Given the description of an element on the screen output the (x, y) to click on. 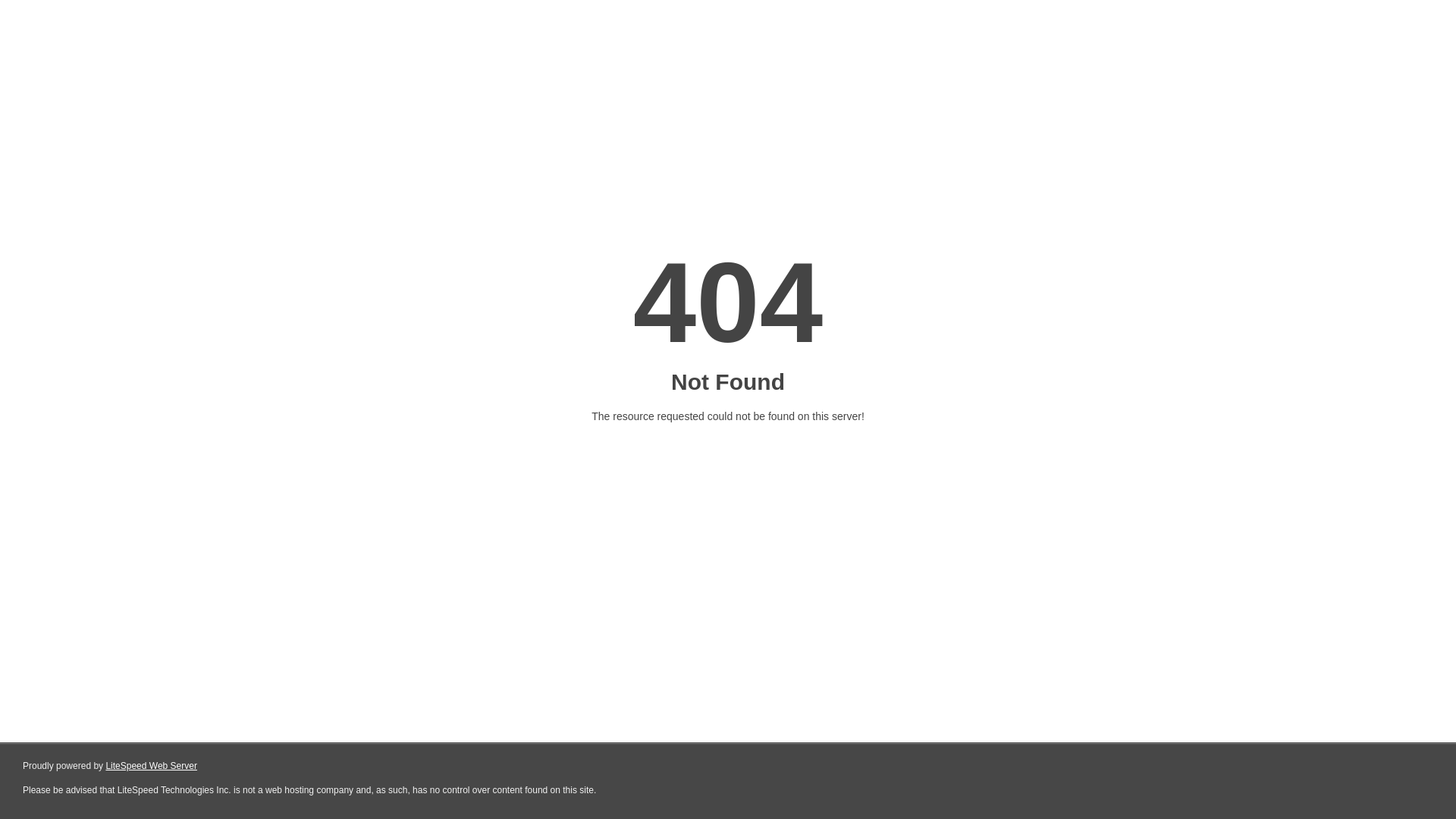
LiteSpeed Web Server Element type: text (151, 765)
